Given the description of an element on the screen output the (x, y) to click on. 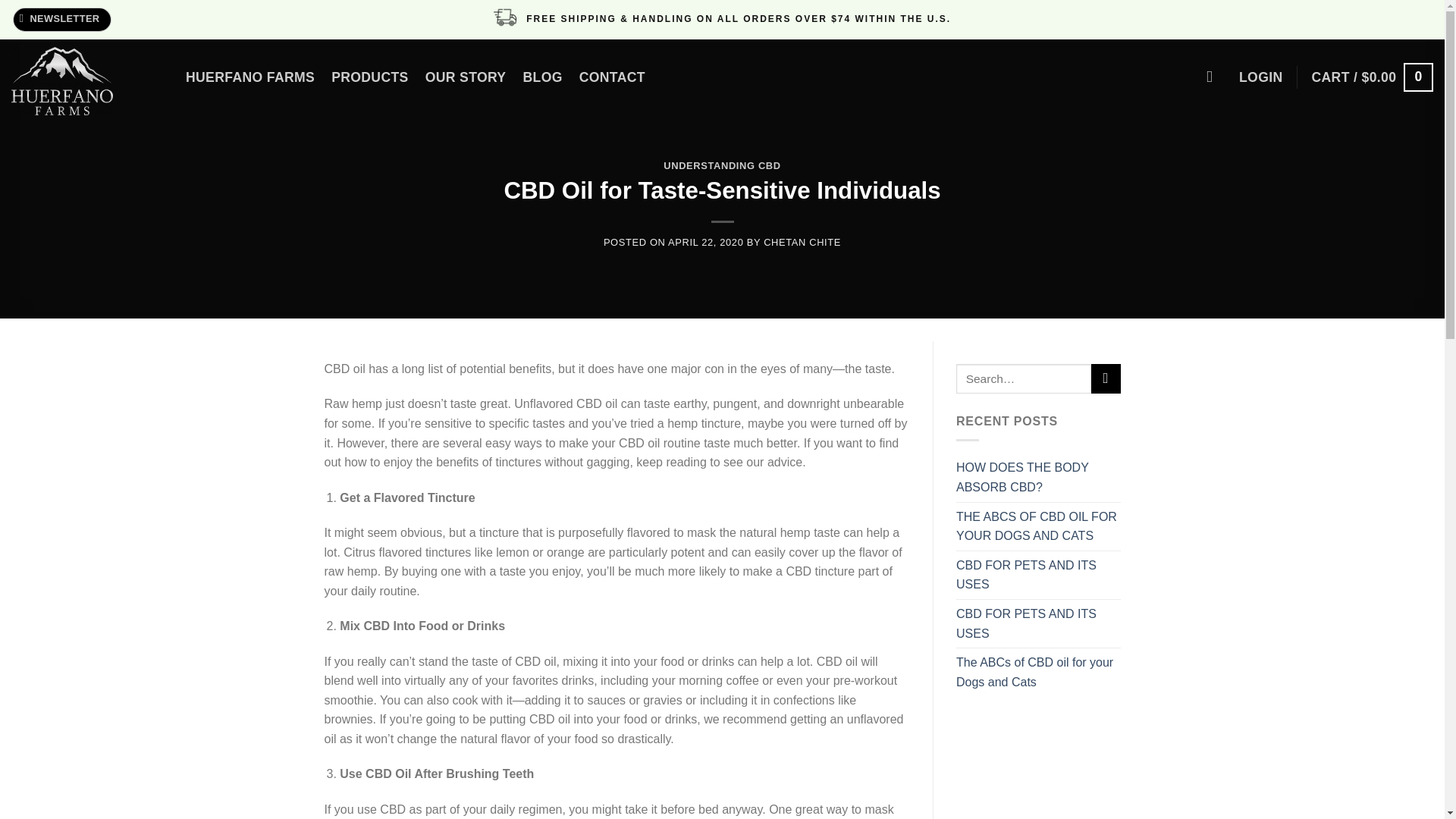
CONTACT (612, 76)
NEWSLETTER (62, 19)
BLOG (542, 76)
CBD FOR PETS AND ITS USES (1038, 623)
HUERFANO FARMS (250, 76)
Login (1260, 76)
THE ABCS OF CBD OIL FOR YOUR DOGS AND CATS (1038, 526)
APRIL 22, 2020 (705, 242)
Sign up for Newsletter (62, 19)
OUR STORY (465, 76)
LOGIN (1260, 76)
PRODUCTS (370, 76)
The ABCs of CBD oil for your Dogs and Cats (1038, 672)
CBD FOR PETS AND ITS USES (1038, 574)
HUERFANO FARMS - Handcrafted CBD Smokable Flower (87, 80)
